Given the description of an element on the screen output the (x, y) to click on. 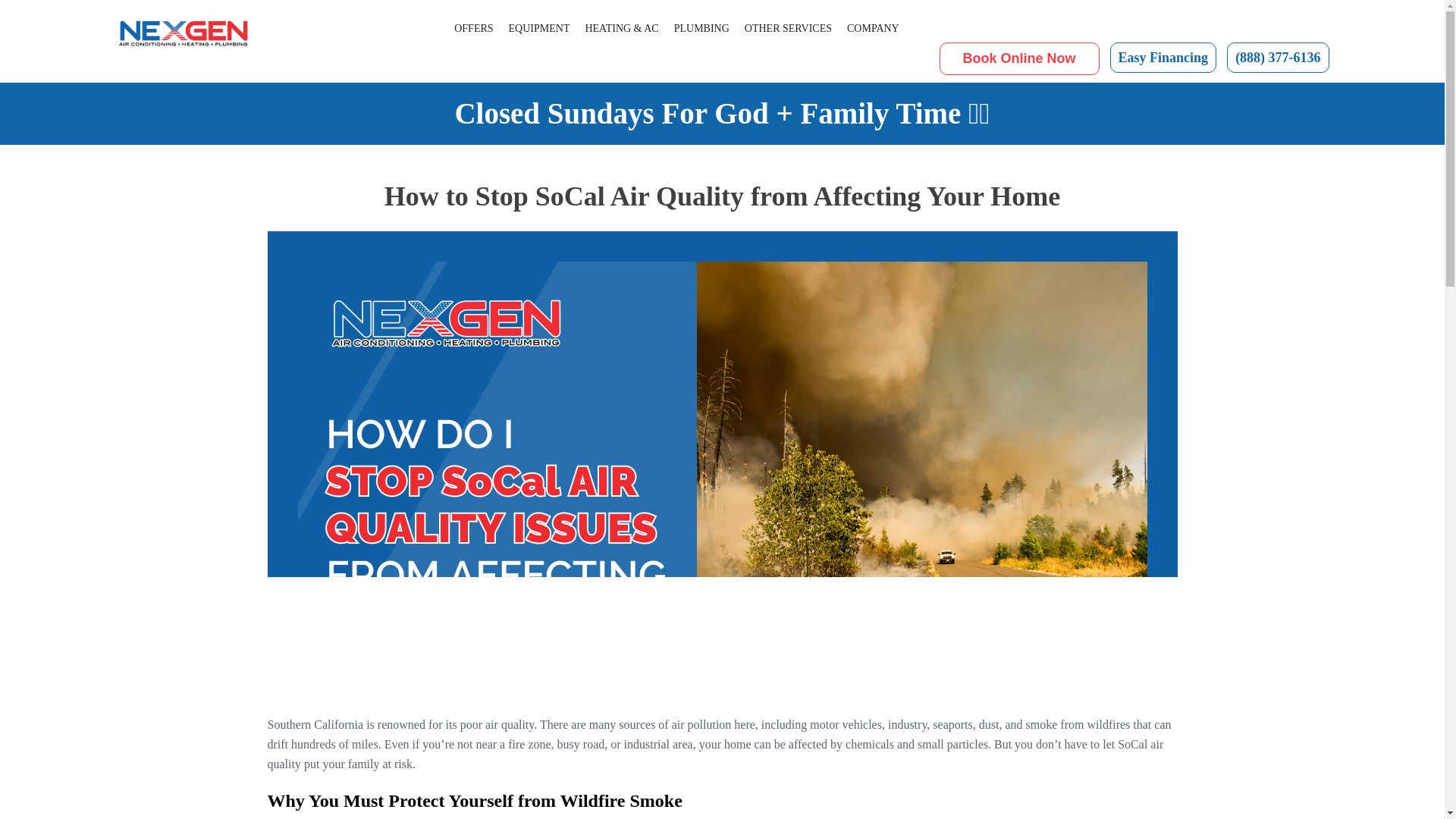
PLUMBING (701, 28)
Nexgen's Current Offers (473, 28)
OFFERS (473, 28)
EQUIPMENT (539, 28)
